Given the description of an element on the screen output the (x, y) to click on. 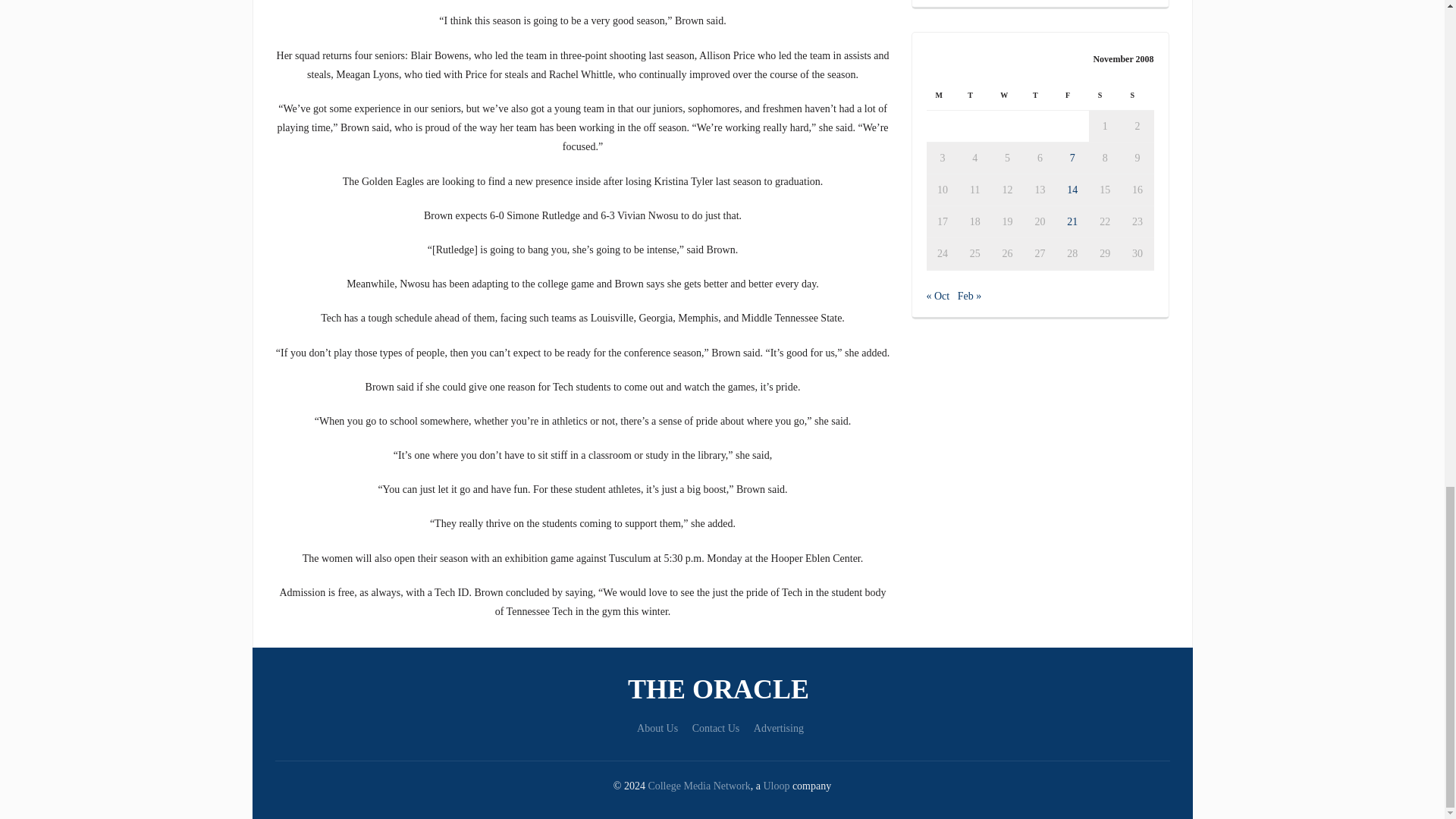
Monday (942, 94)
Tuesday (974, 94)
Uloop (775, 785)
Saturday (1105, 94)
21 (1072, 221)
Friday (1073, 94)
Sunday (1137, 94)
College Media Network (698, 785)
THE ORACLE (721, 688)
Contact Us (716, 727)
Wednesday (1007, 94)
14 (1072, 189)
About Us (657, 727)
Where Golden Eagles Fly For News (721, 688)
Advertising (778, 727)
